Given the description of an element on the screen output the (x, y) to click on. 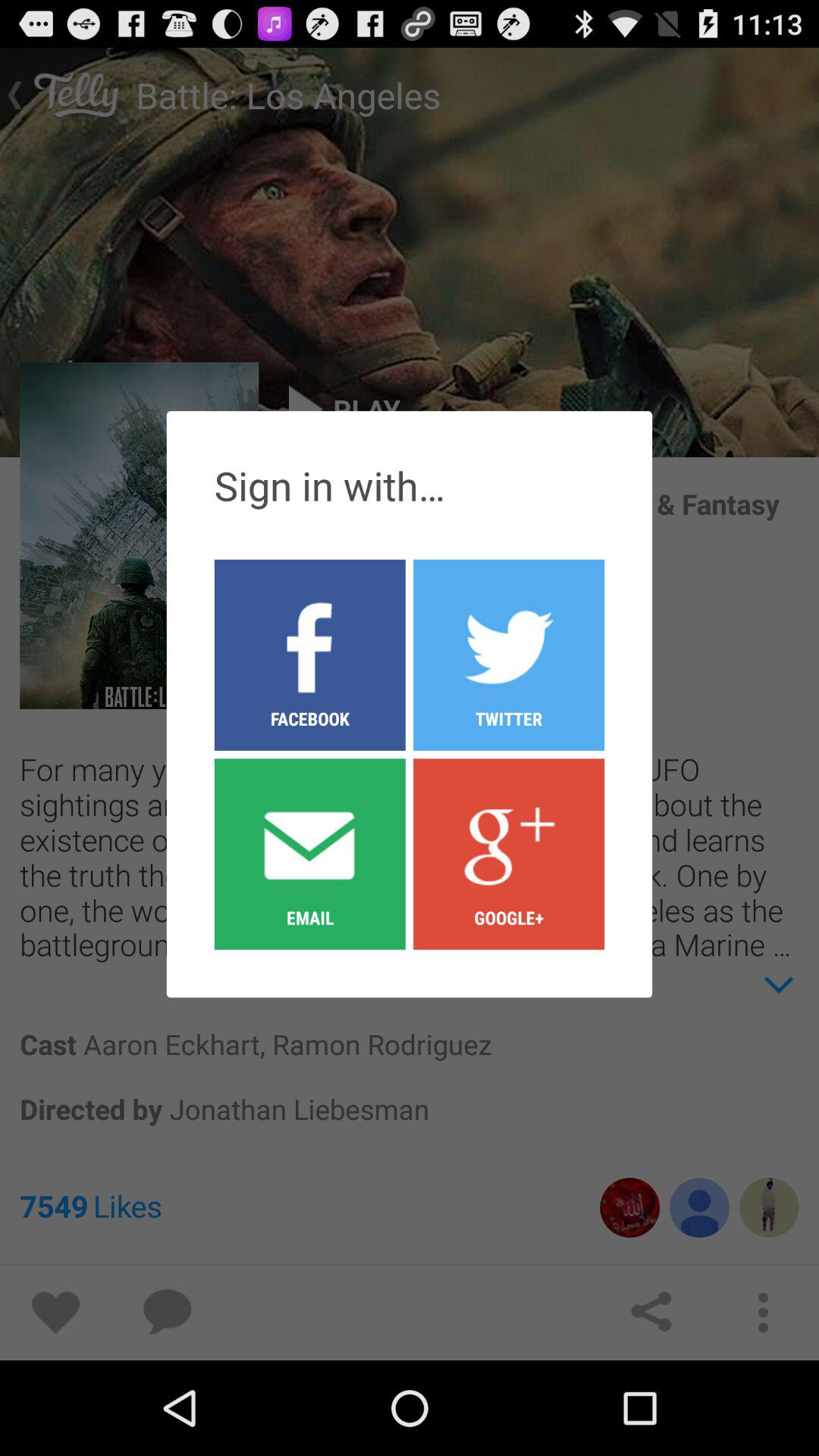
swipe until google+ icon (508, 853)
